Given the description of an element on the screen output the (x, y) to click on. 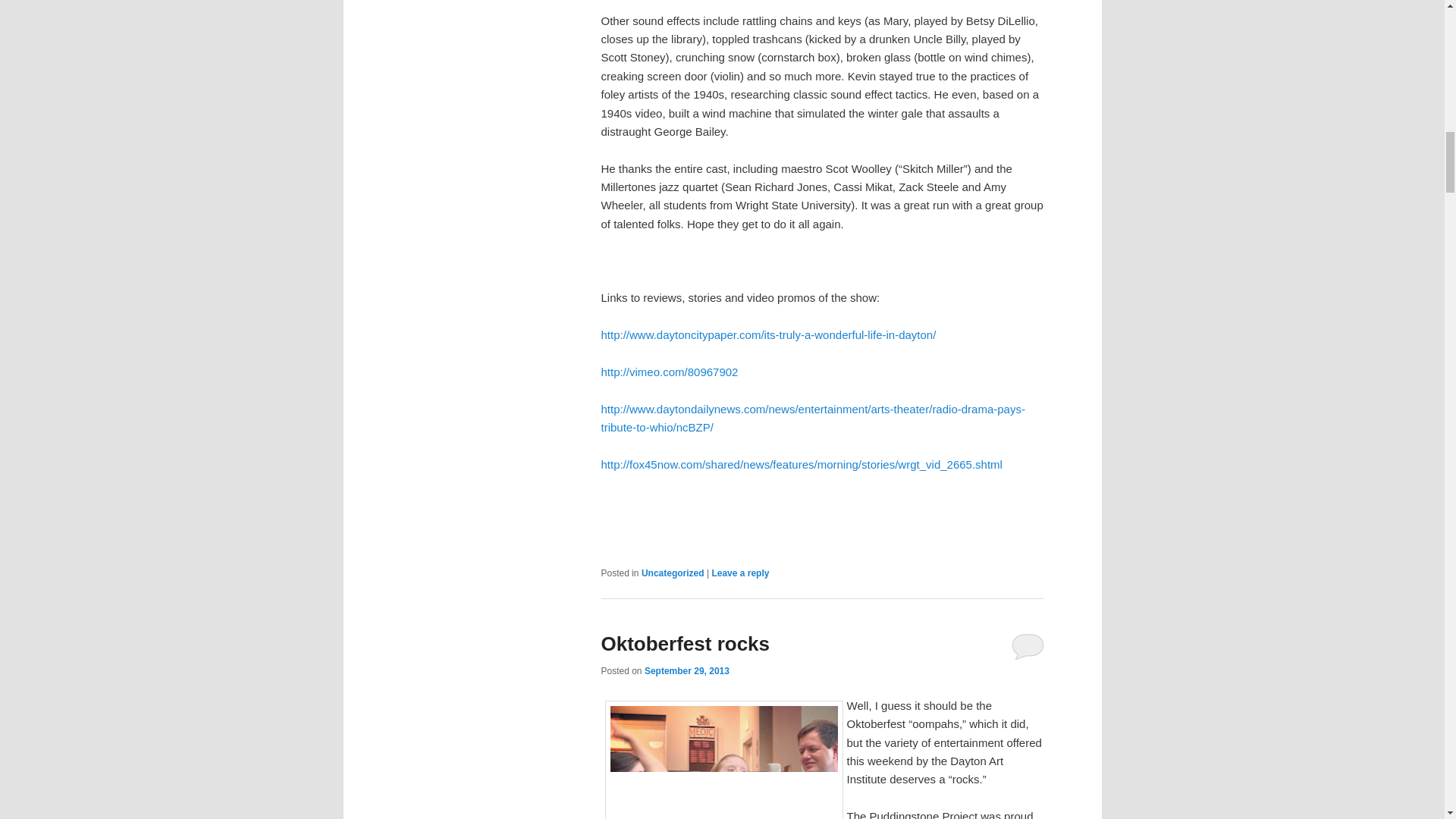
September 29, 2013 (687, 670)
9:12 pm (687, 670)
Comment on Oktoberfest rocks (1027, 646)
Permalink to Oktoberfest rocks (684, 643)
Uncategorized (673, 573)
View all posts in Uncategorized (673, 573)
Oktoberfest rocks (684, 643)
Leave a reply (739, 573)
PuddingstoneDAI1 (724, 760)
